Given the description of an element on the screen output the (x, y) to click on. 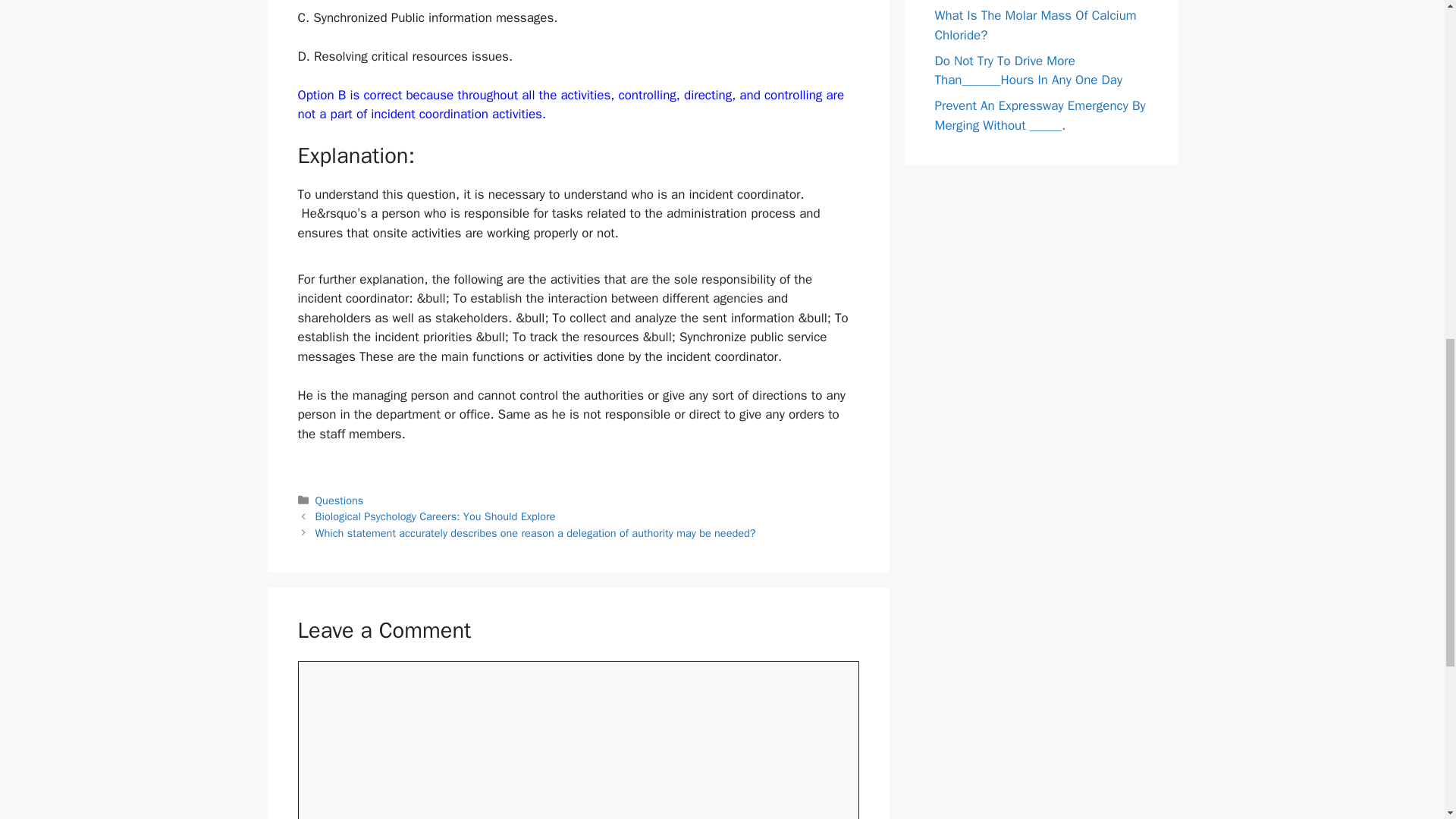
Biological Psychology Careers: You Should Explore (435, 516)
Questions (339, 499)
What Is The Molar Mass Of Calcium Chloride? (1034, 25)
